Given the description of an element on the screen output the (x, y) to click on. 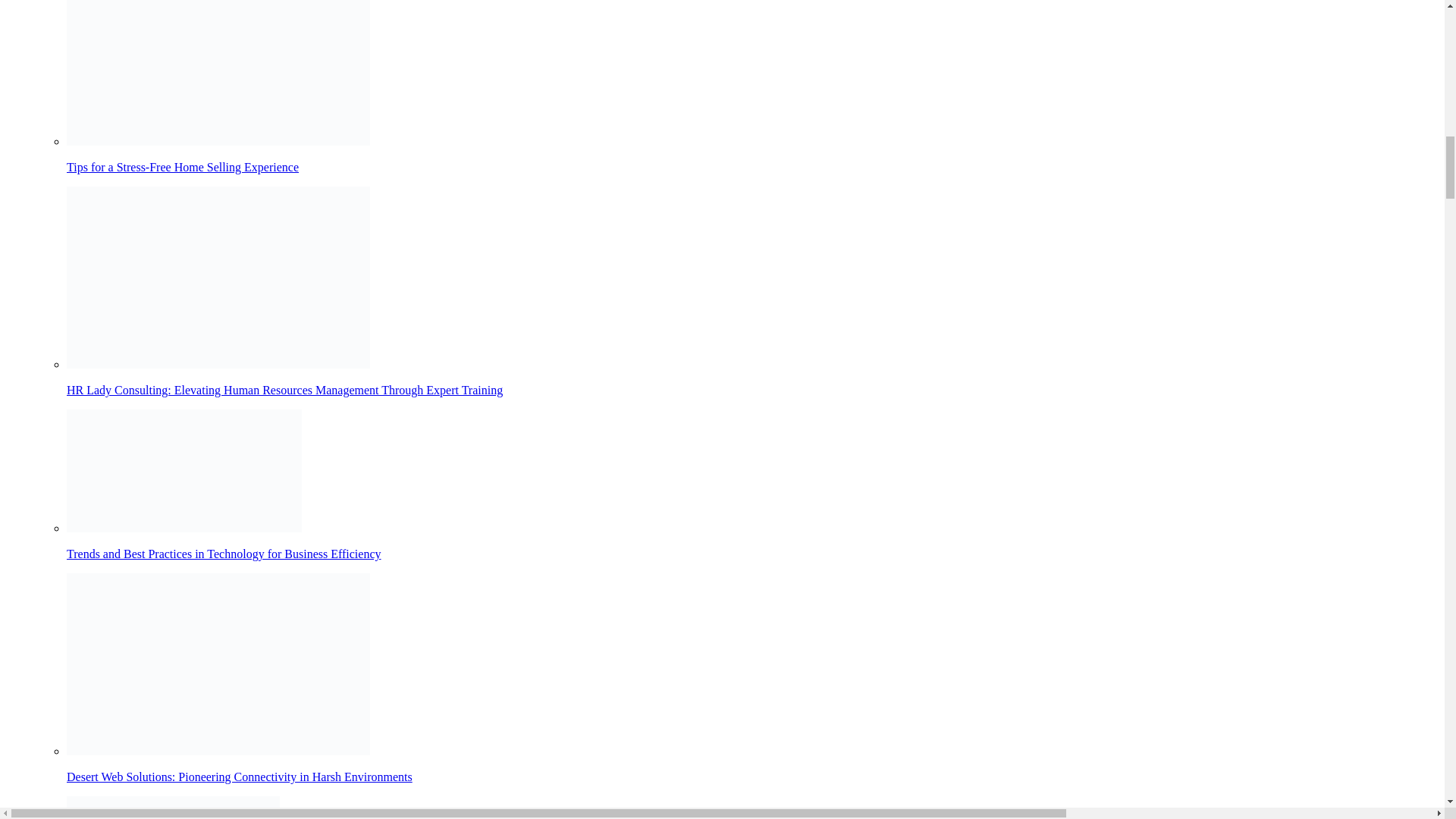
Solving the Denver Home Loan Quagmire Dilemma 10 (172, 807)
Tips for a Stress-Free Home Selling Experience 6 (217, 72)
Solving the Denver Home Loan Quagmire Dilemma (752, 807)
